Given the description of an element on the screen output the (x, y) to click on. 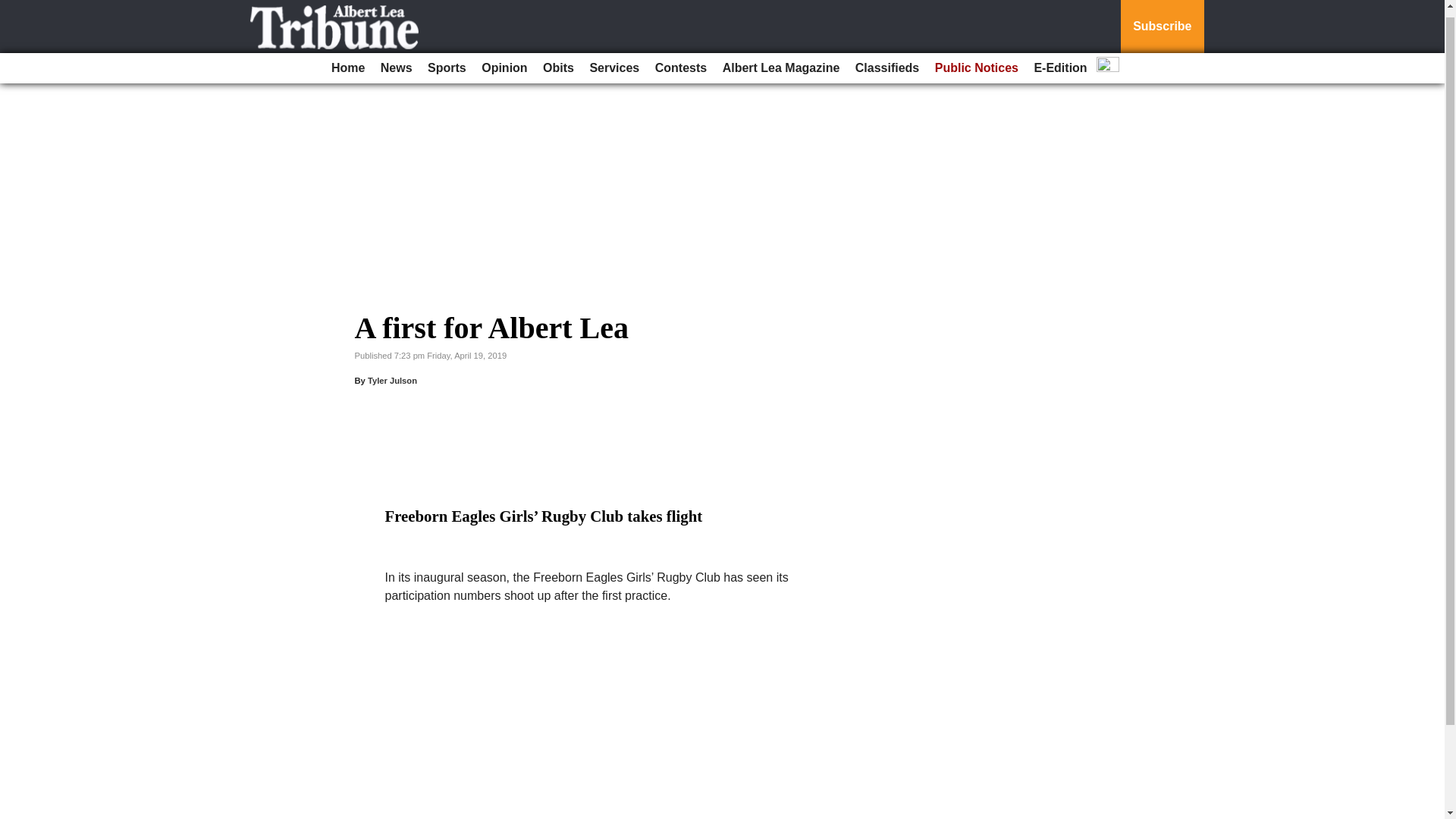
Services (614, 60)
Opinion (504, 60)
Sports (446, 60)
Home (347, 60)
Subscribe (1162, 22)
News (396, 60)
Obits (558, 60)
